Given the description of an element on the screen output the (x, y) to click on. 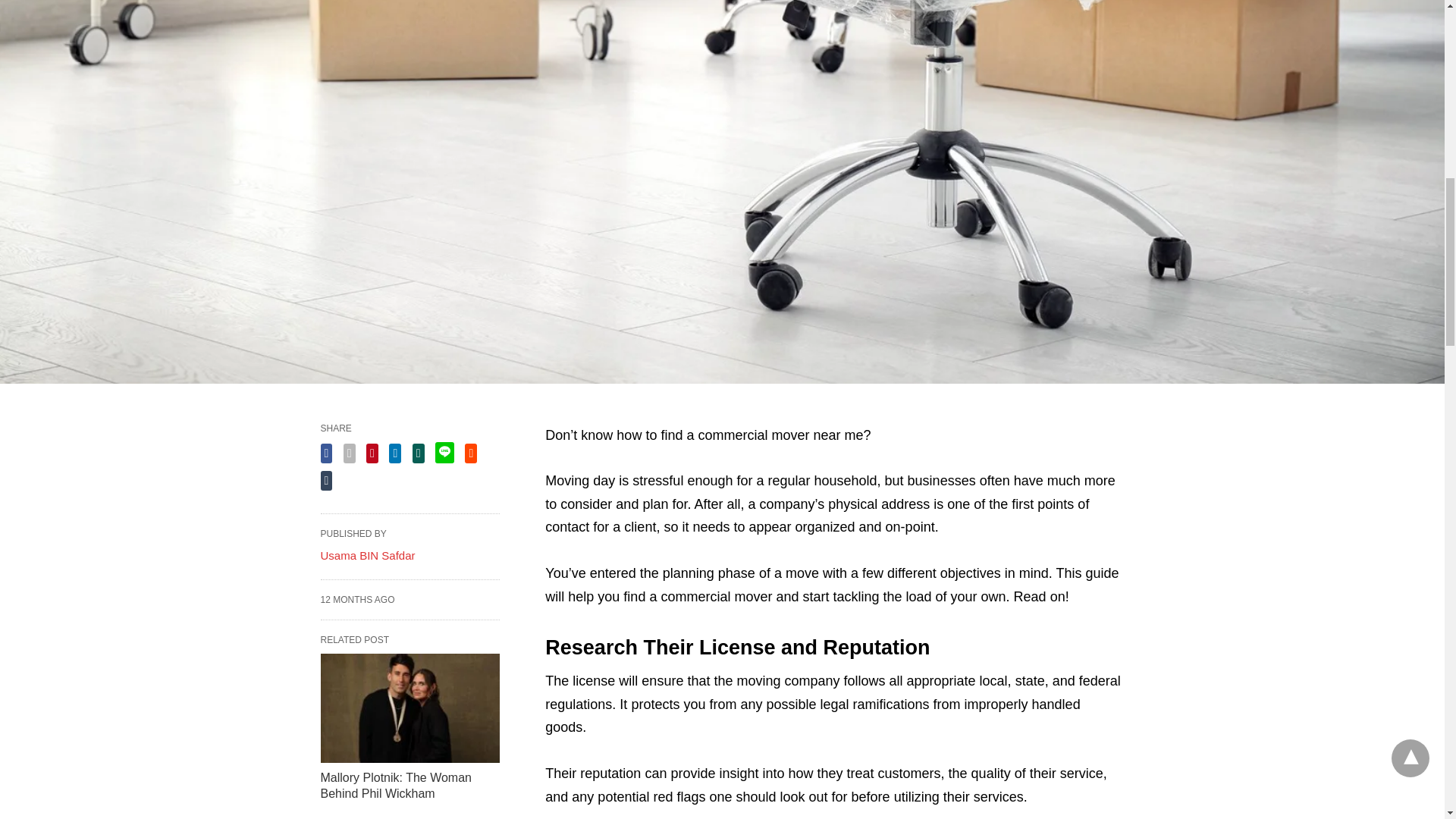
line share (444, 452)
Mallory Plotnik: The Woman Behind Phil Wickham (395, 785)
Mallory Plotnik: The Woman Behind Phil Wickham (409, 707)
